Given the description of an element on the screen output the (x, y) to click on. 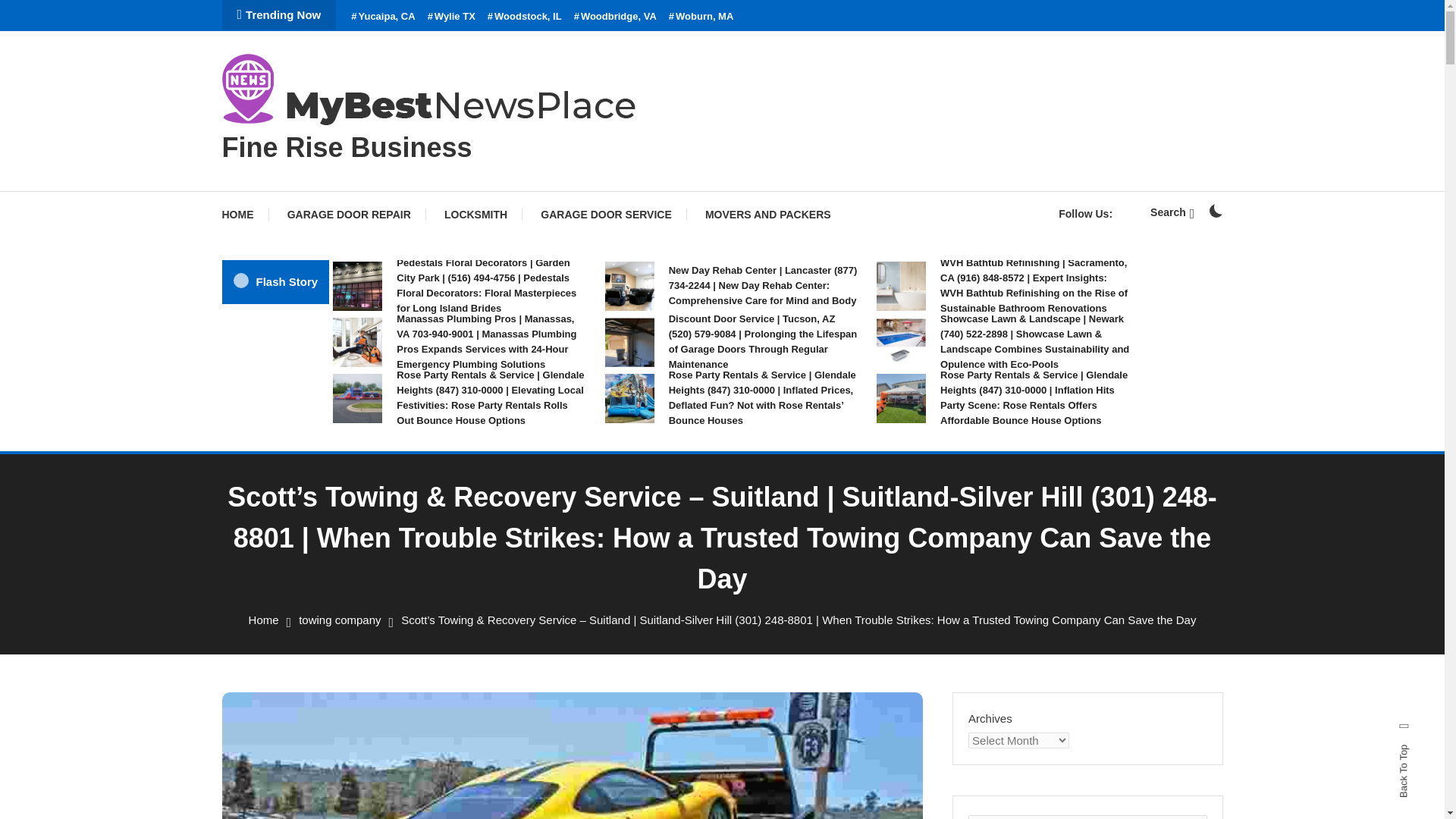
Yucaipa, CA (382, 16)
Wylie TX (452, 16)
Search (1171, 212)
HOME (244, 214)
MOVERS AND PACKERS (767, 214)
towing company (339, 619)
Woodstock, IL (524, 16)
Woburn, MA (700, 16)
LOCKSMITH (475, 214)
GARAGE DOOR SERVICE (605, 214)
Woodbridge, VA (614, 16)
Home (263, 619)
Search (768, 434)
Fine Rise Business (346, 146)
GARAGE DOOR REPAIR (349, 214)
